Given the description of an element on the screen output the (x, y) to click on. 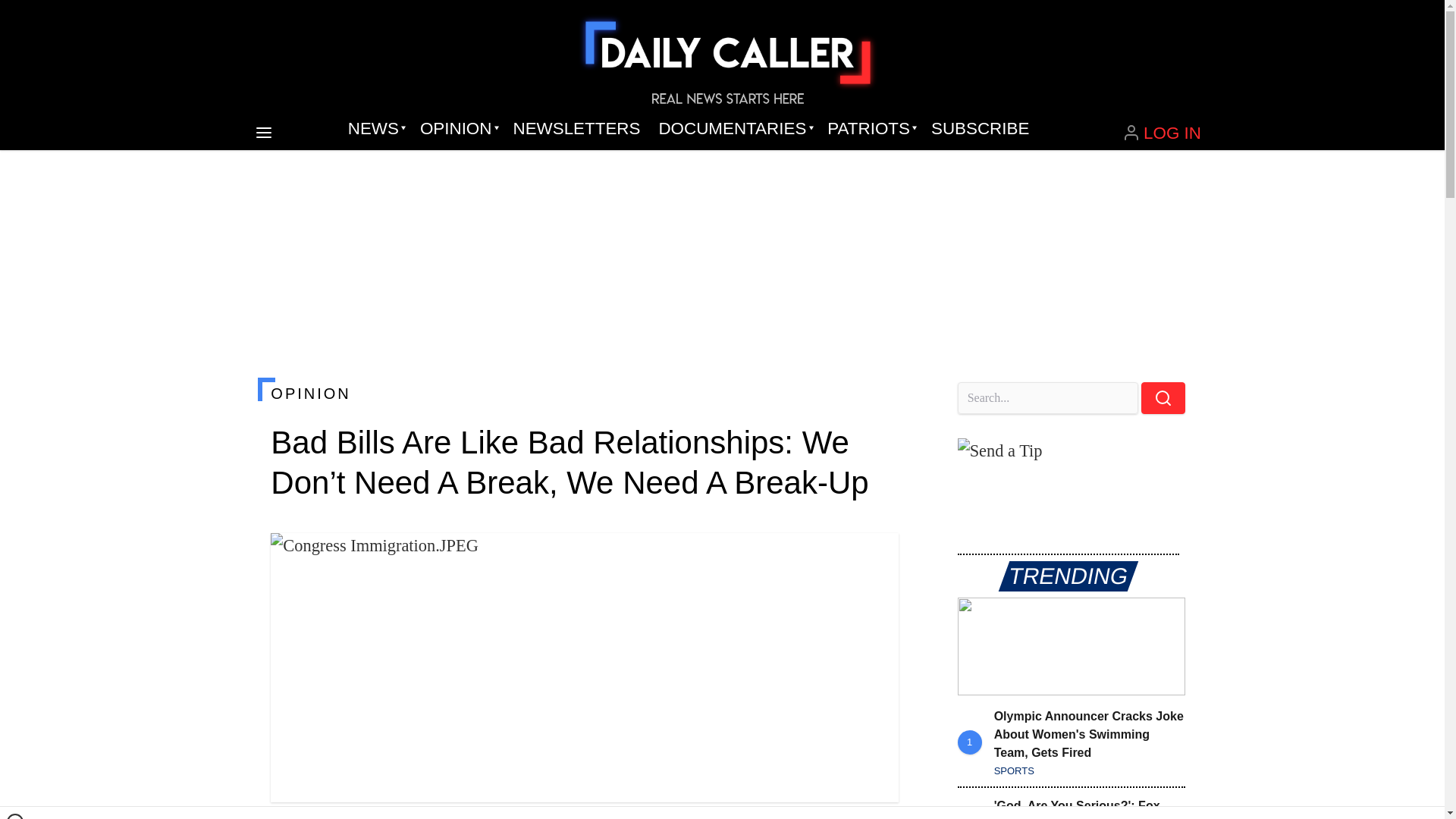
Toggle fullscreen (874, 556)
SUBSCRIBE (979, 128)
DOCUMENTARIES (733, 128)
Close window (14, 816)
OPINION (584, 393)
NEWS (374, 128)
OPINION (456, 128)
PATRIOTS (869, 128)
NEWSLETTERS (576, 128)
